Given the description of an element on the screen output the (x, y) to click on. 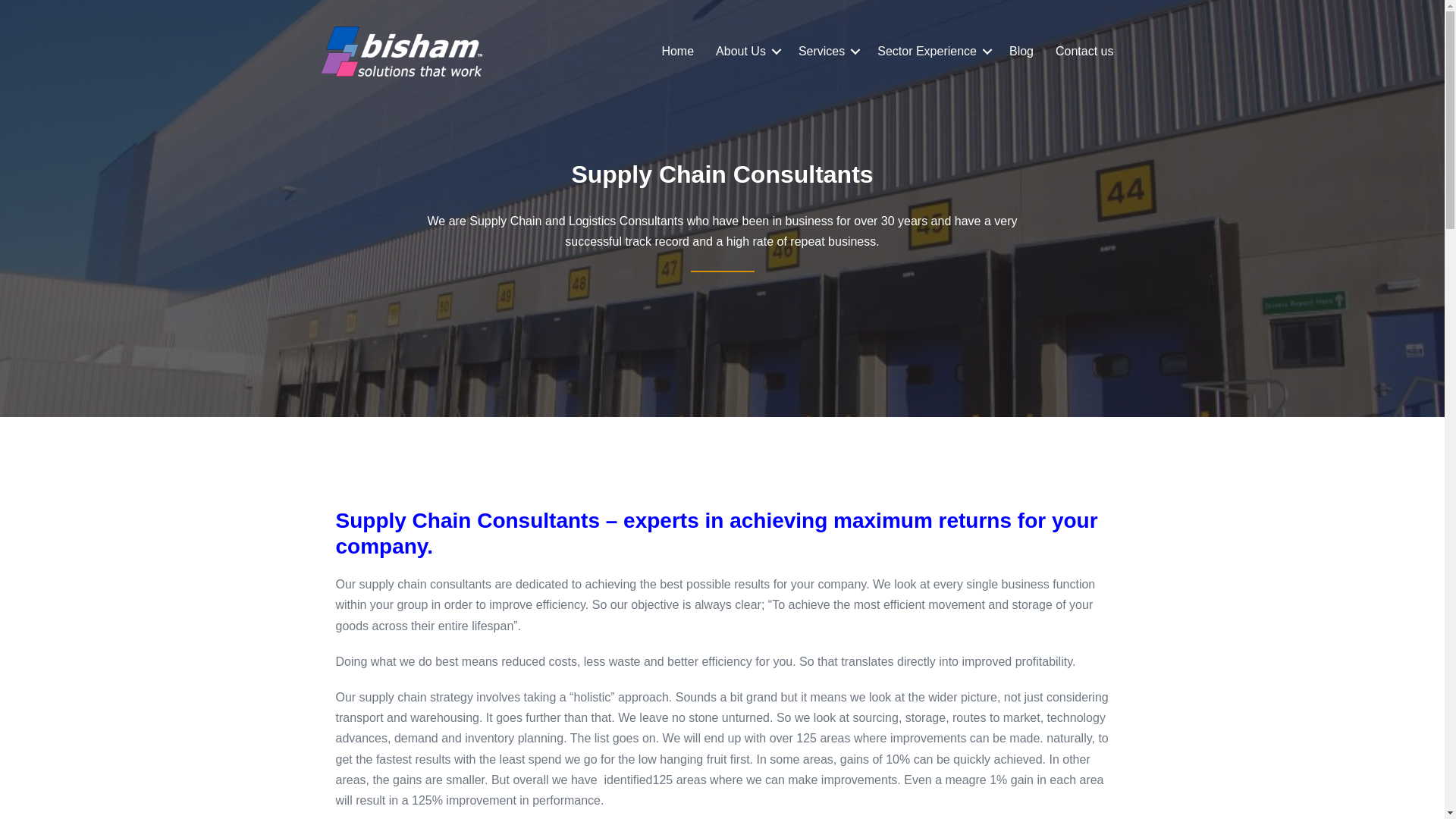
Home (677, 51)
About Us (745, 51)
Services (826, 51)
Contact us (1084, 51)
Sector Experience (931, 51)
Blog (1020, 51)
bisham-logo-white (400, 51)
